Given the description of an element on the screen output the (x, y) to click on. 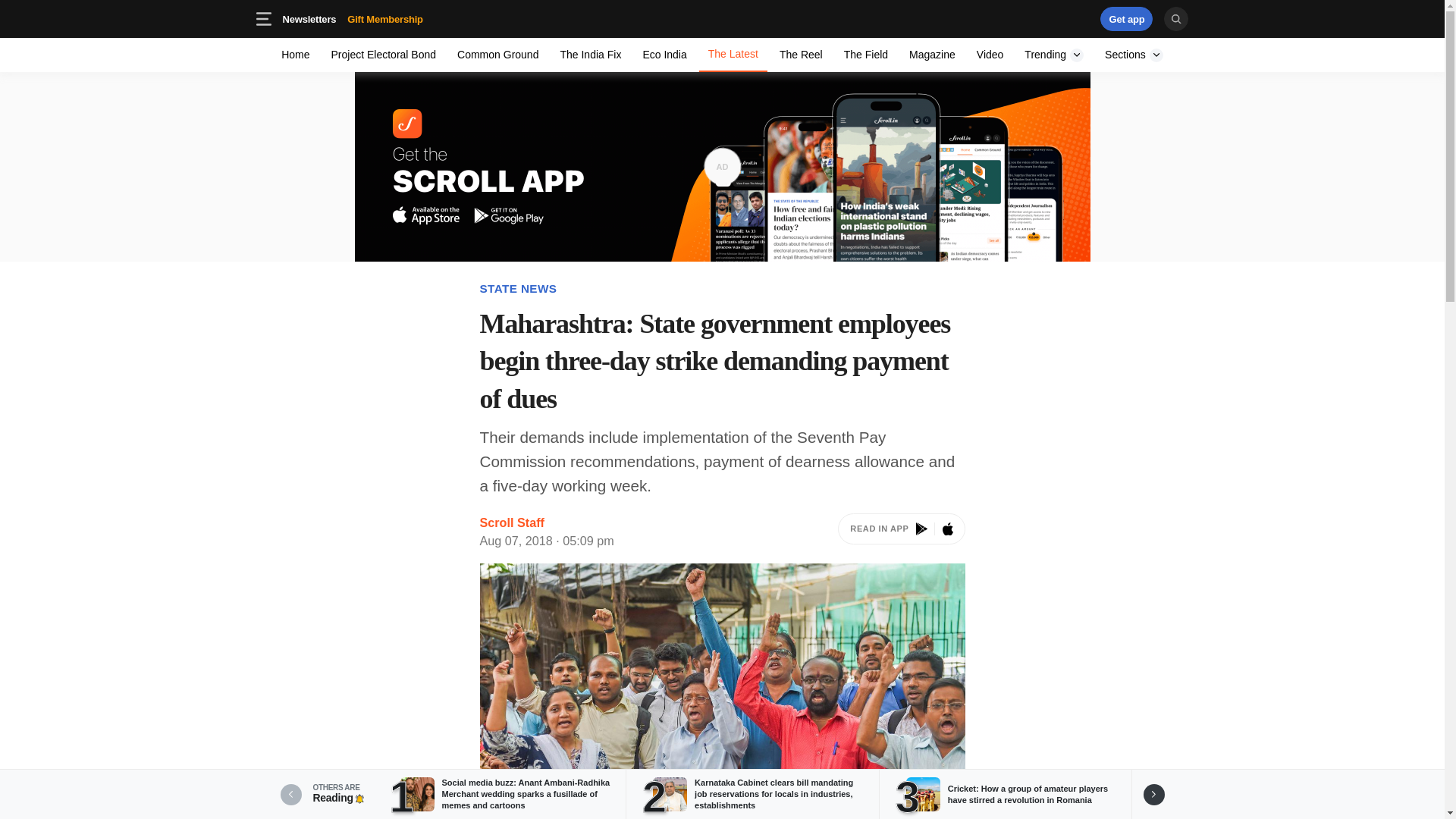
READ IN APP (900, 531)
Magazine (931, 54)
Home (409, 18)
Trending (295, 54)
Video (1053, 54)
The Latest (990, 54)
Gift Membership (732, 54)
3rd party ad content (385, 18)
Newsletters (590, 54)
Common Ground (309, 18)
Project Electoral Bond (497, 54)
The Reel (383, 54)
Sections (800, 54)
